Given the description of an element on the screen output the (x, y) to click on. 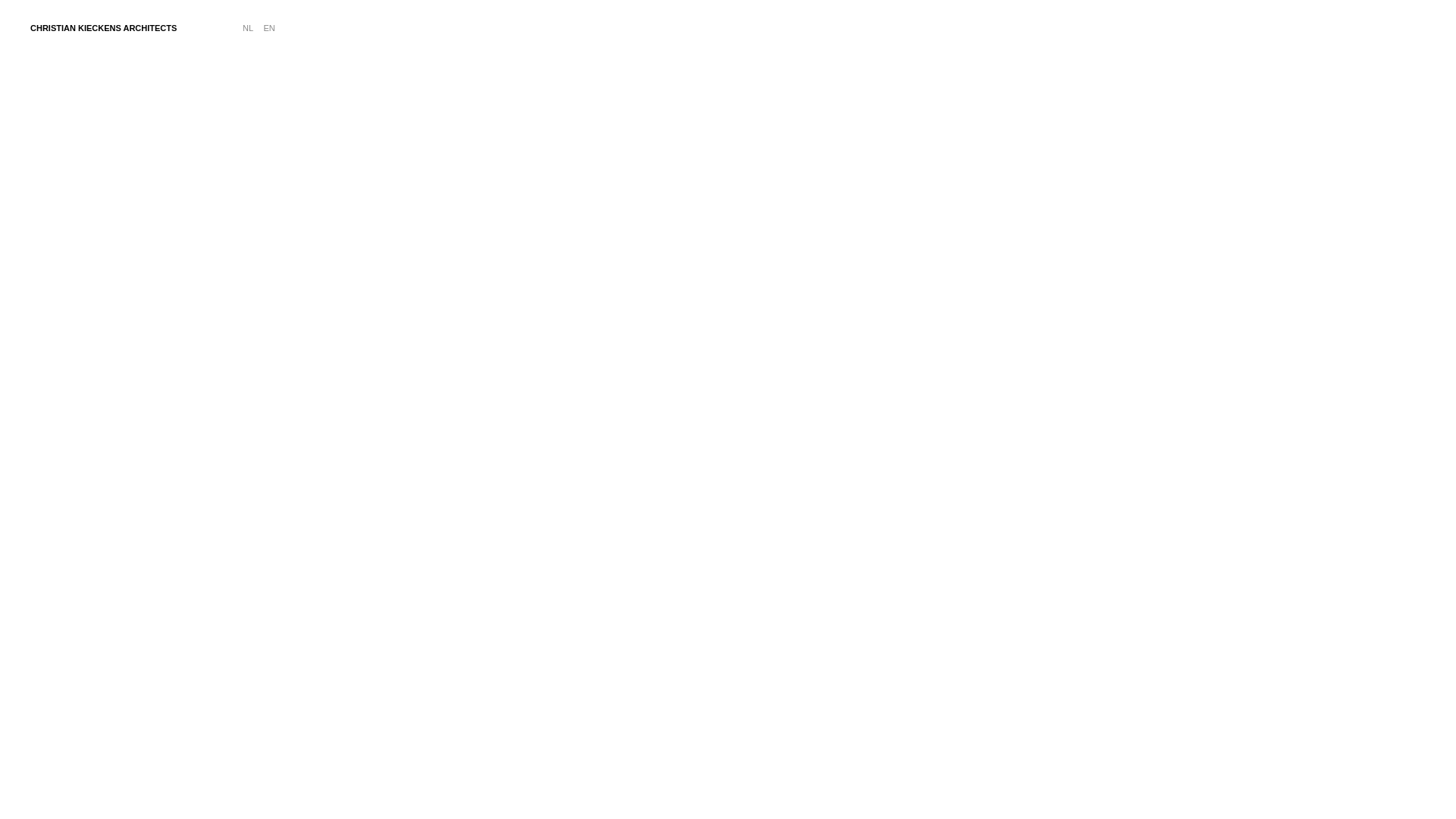
NL Element type: text (247, 27)
EN Element type: text (268, 27)
CHRISTIAN KIECKENS ARCHITECTS Element type: text (103, 27)
